Given the description of an element on the screen output the (x, y) to click on. 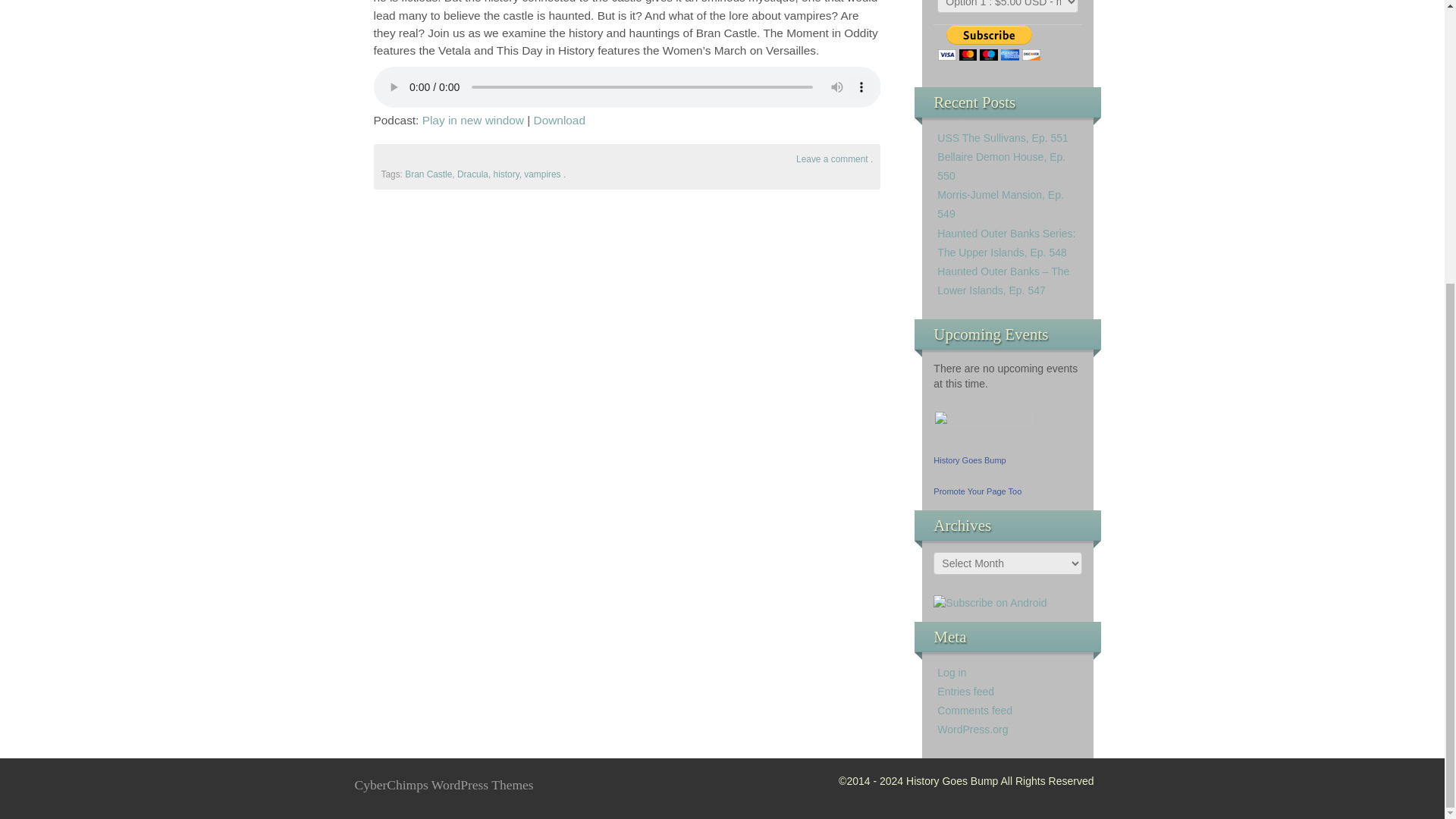
Dracula (472, 173)
vampires (542, 173)
History Goes Bump (969, 460)
Leave a comment (831, 158)
Morris-Jumel Mansion, Ep. 549 (1000, 204)
Download (559, 119)
Bellaire Demon House, Ep. 550 (1001, 165)
History Goes Bump (969, 460)
Bran Castle (427, 173)
Play in new window (473, 119)
